Given the description of an element on the screen output the (x, y) to click on. 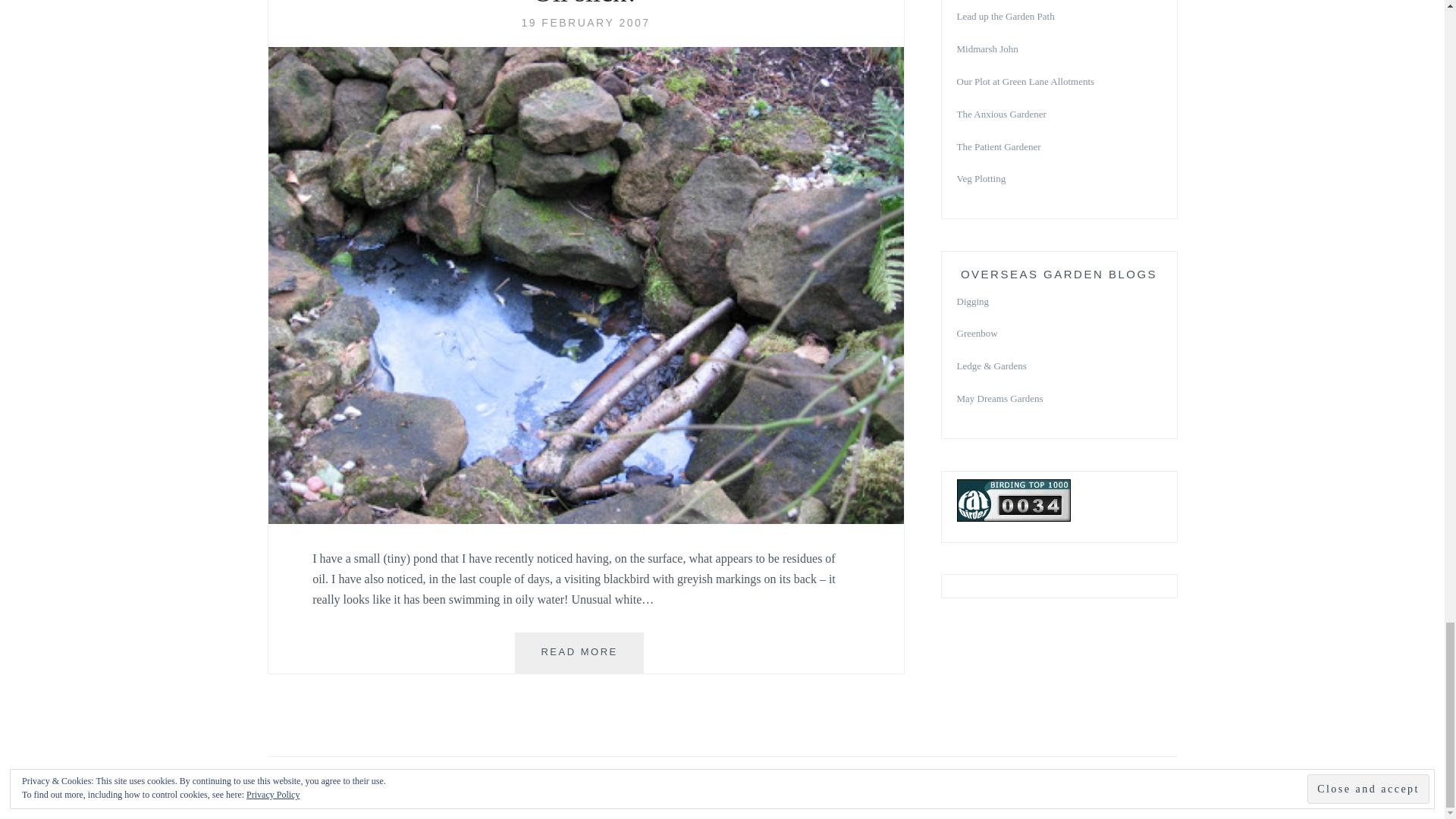
Oil slick? (585, 519)
Oil slick? (585, 22)
Oil slick? (585, 4)
19 FEBRUARY 2007 (579, 652)
